Given the description of an element on the screen output the (x, y) to click on. 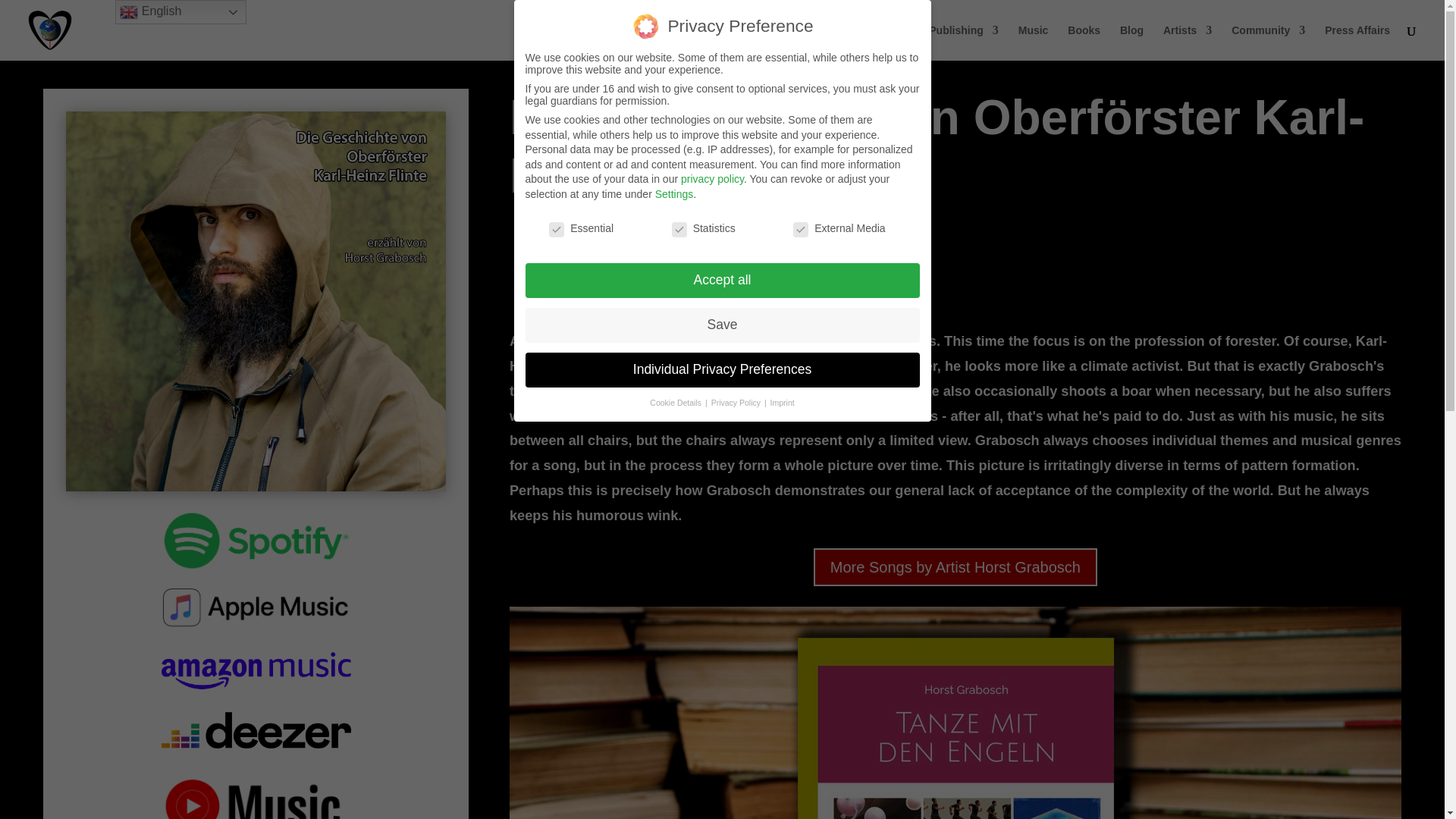
Entprima on Amazon Music (255, 670)
Entprima on Apple Music (255, 606)
Books (1083, 42)
Community (1267, 42)
Entprima on Spotify (255, 540)
Entprima on Youtube Music (255, 796)
Press Affairs (1357, 42)
Entprima on Deezer (255, 730)
Artists (1187, 42)
